Given the description of an element on the screen output the (x, y) to click on. 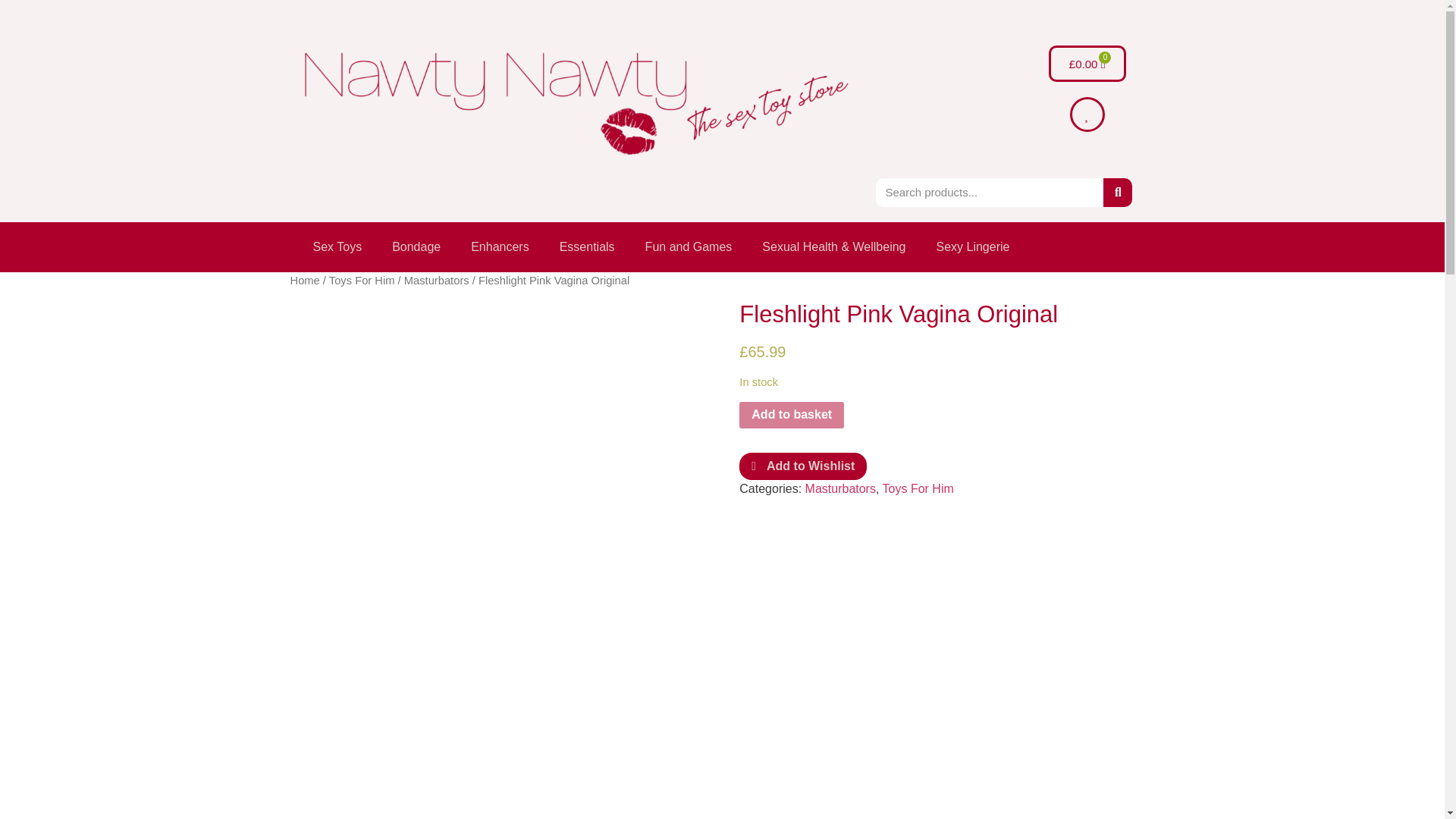
Sex Toys (337, 247)
